Given the description of an element on the screen output the (x, y) to click on. 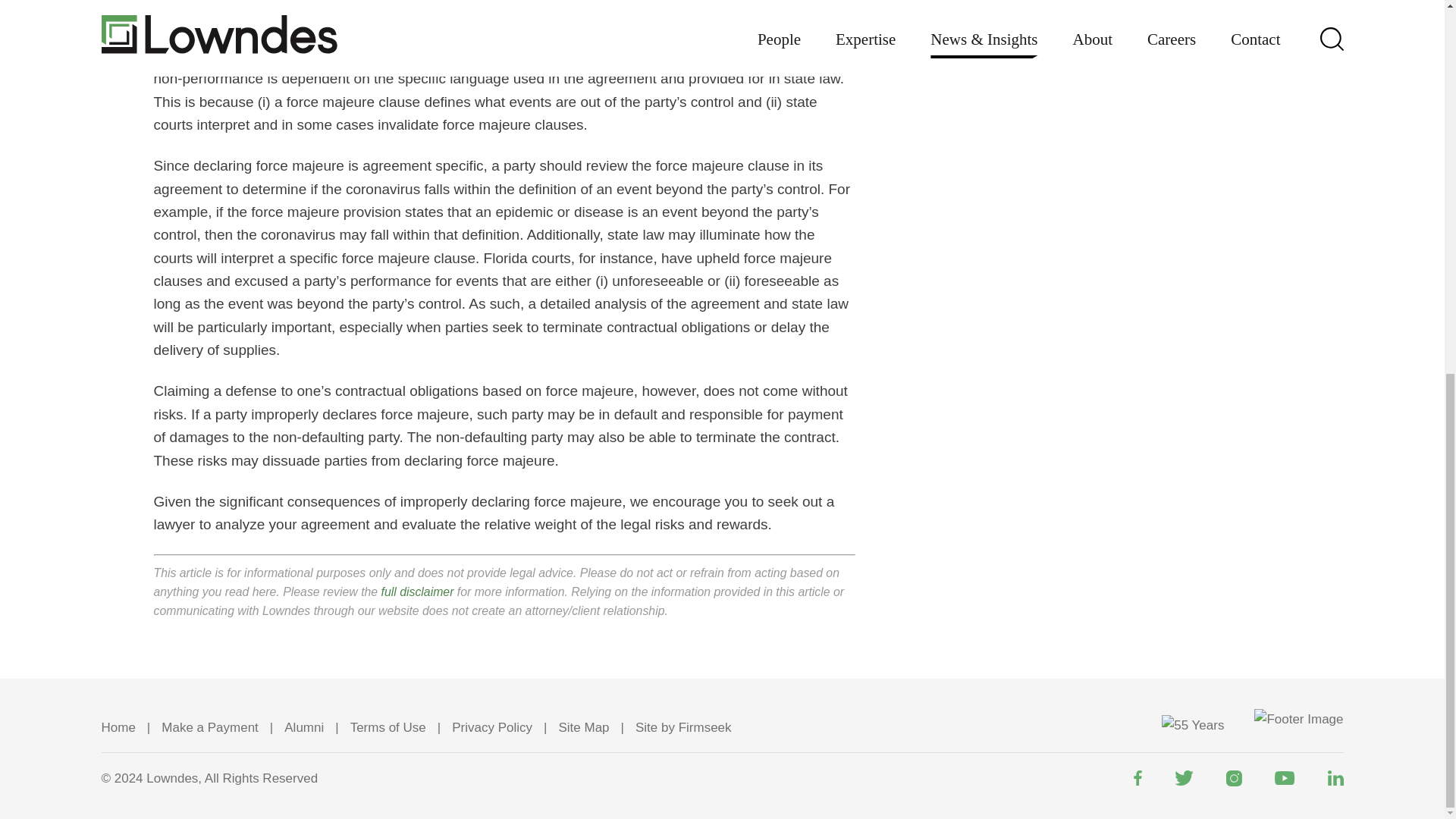
Linkedin (1334, 777)
Instagram (1233, 778)
Youtube (1284, 777)
Twitter (1182, 777)
